Given the description of an element on the screen output the (x, y) to click on. 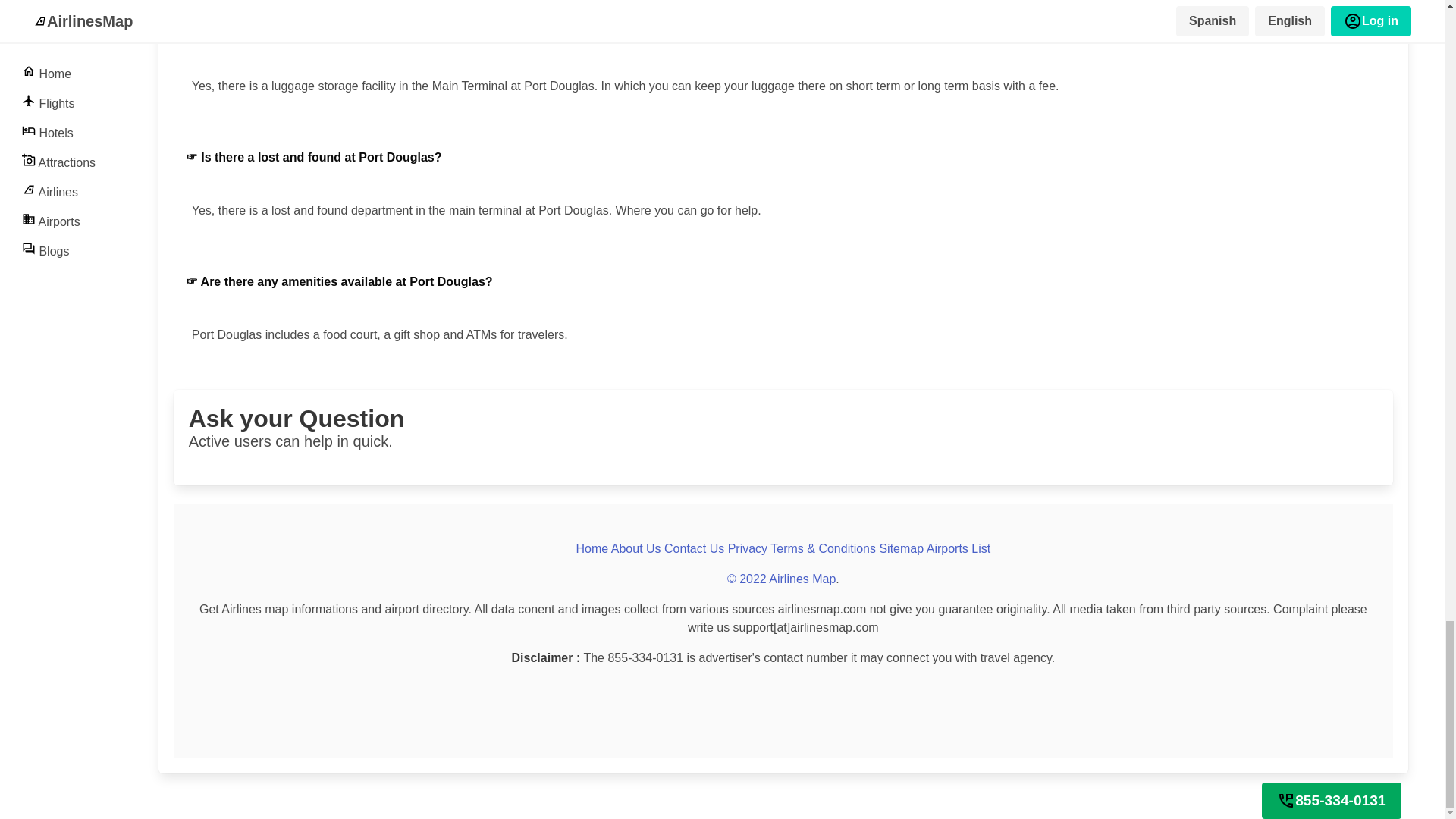
Privacy (747, 548)
Contact Us (693, 548)
About Us (636, 548)
Sitemap (958, 548)
Privacy (747, 548)
Home (592, 548)
Contact Us (693, 548)
Airlines Map (780, 578)
Sitemap (901, 548)
About Us (636, 548)
